Given the description of an element on the screen output the (x, y) to click on. 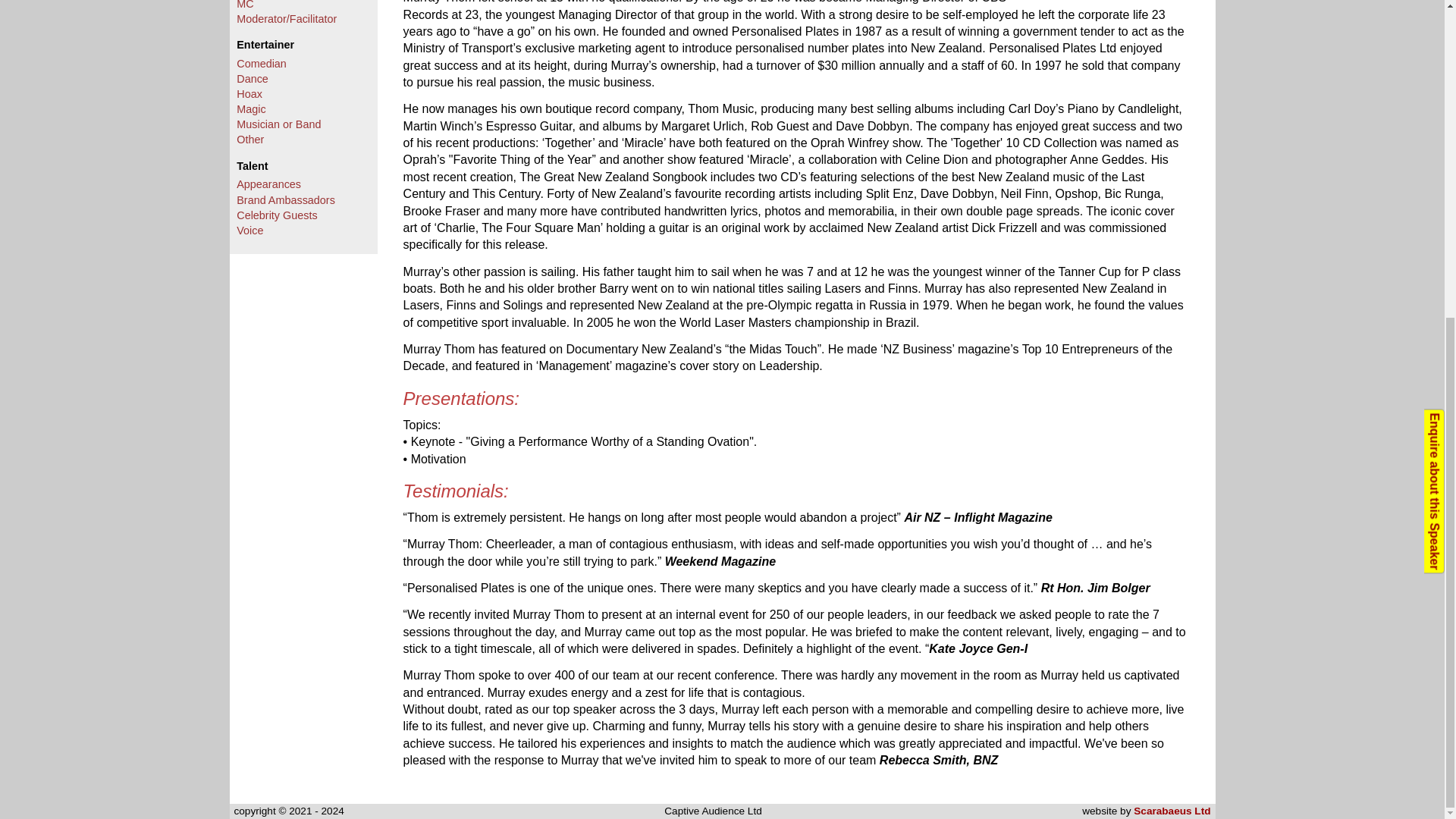
Magic (249, 109)
MC (244, 4)
Hoax (248, 93)
Celebrity Guests (276, 215)
Appearances (268, 184)
Scarabaeus Ltd (1171, 810)
Other (249, 139)
Comedian (260, 63)
Voice (249, 230)
Musician or Band (277, 123)
Dance (251, 78)
Brand Ambassadors (284, 200)
